Given the description of an element on the screen output the (x, y) to click on. 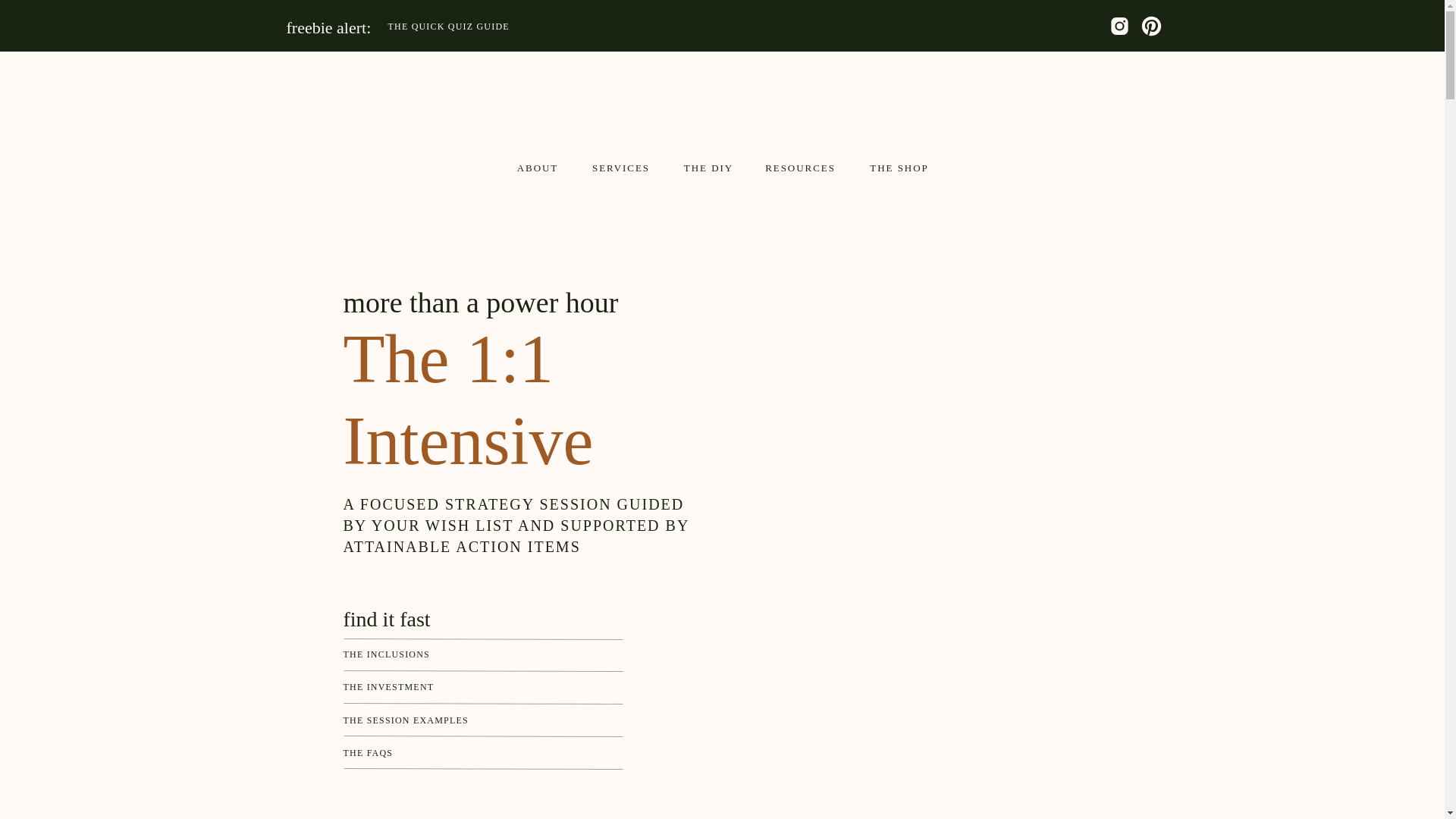
THE QUICK QUIZ GUIDE (579, 26)
THE SHOP (898, 167)
RESOURCES (800, 167)
THE SESSION EXAMPLES (476, 722)
THE INCLUSIONS (476, 656)
ABOUT (537, 167)
THE FAQS (476, 754)
freebie alert: (349, 26)
SERVICES (620, 167)
THE INVESTMENT (476, 688)
THE DIY (707, 167)
